Given the description of an element on the screen output the (x, y) to click on. 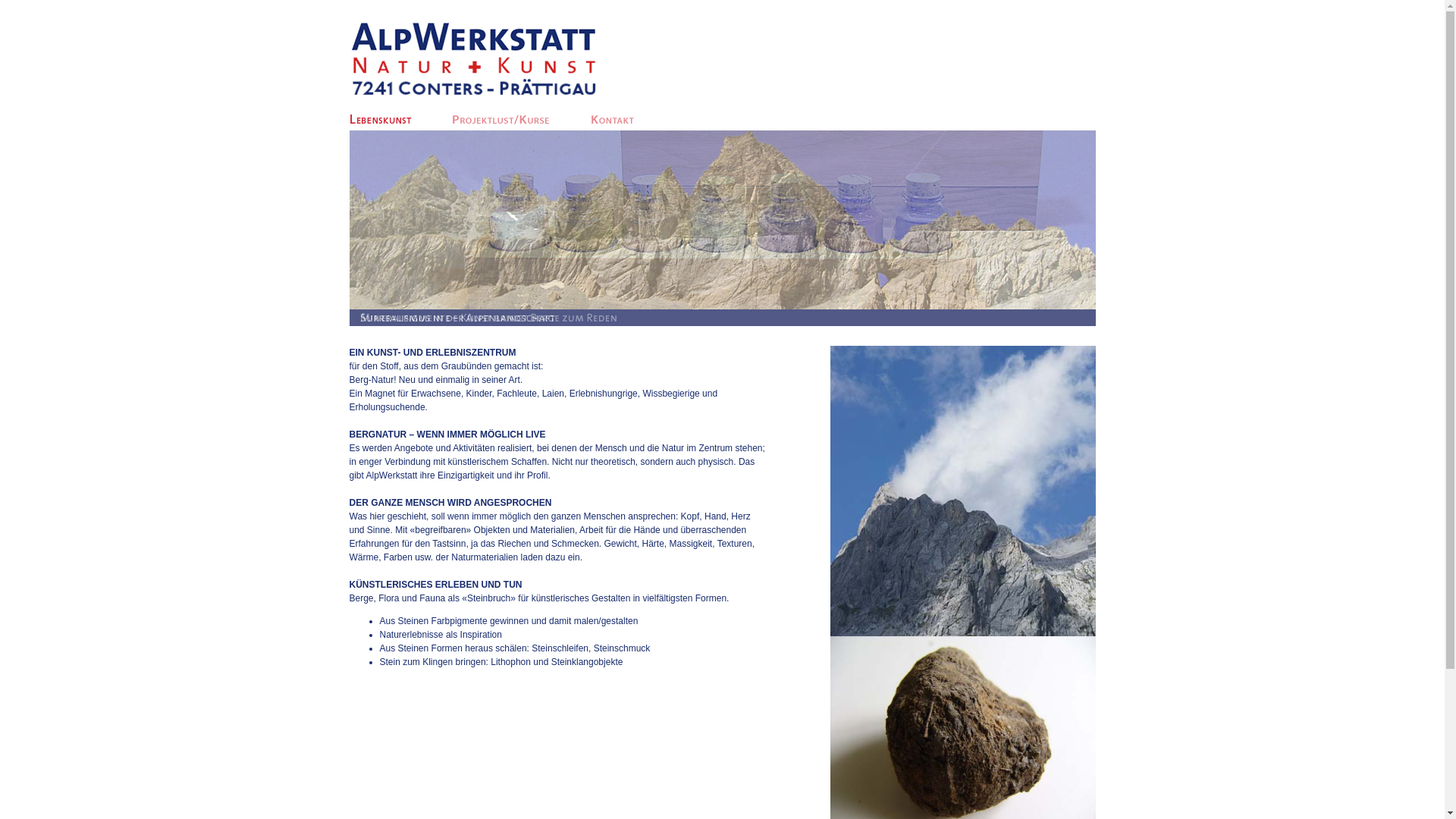
Projektlust/Kurse/Preise Element type: text (500, 117)
Kontakt Element type: text (611, 117)
Start/Lebenskunst Element type: text (379, 117)
